Given the description of an element on the screen output the (x, y) to click on. 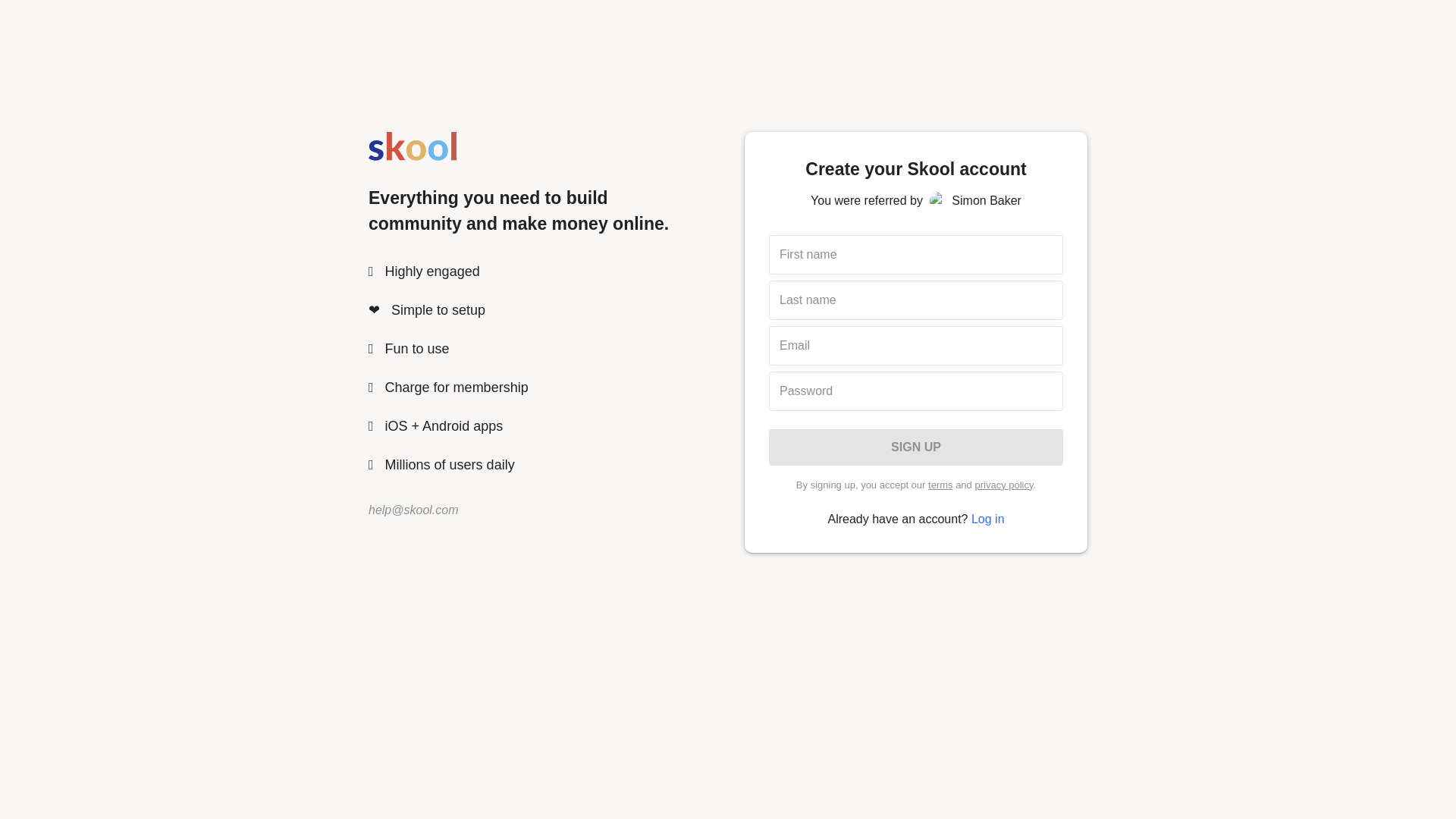
privacy policy (1003, 484)
terms (940, 484)
SIGN UP (915, 447)
Simon Baker (939, 199)
Log in (987, 519)
